Given the description of an element on the screen output the (x, y) to click on. 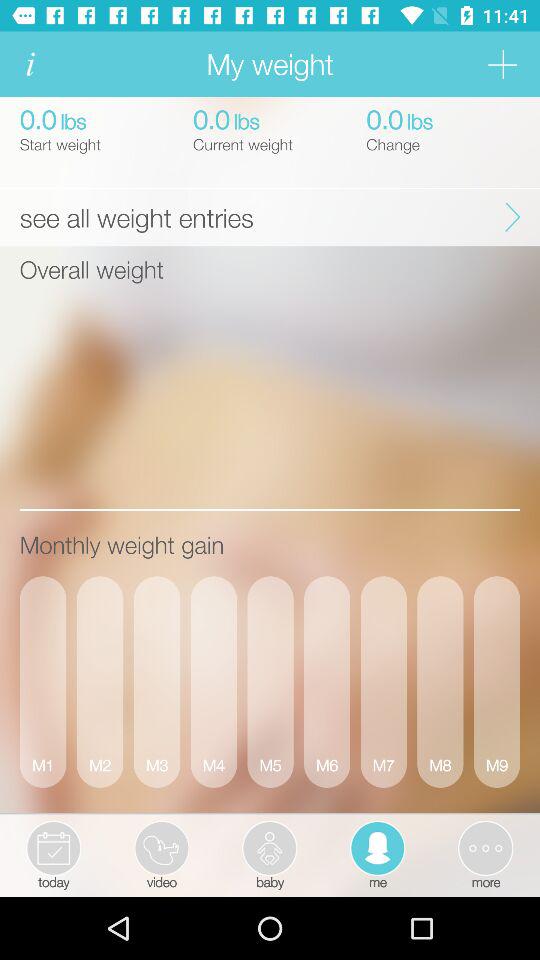
press icon above the 0.0 app (30, 63)
